Given the description of an element on the screen output the (x, y) to click on. 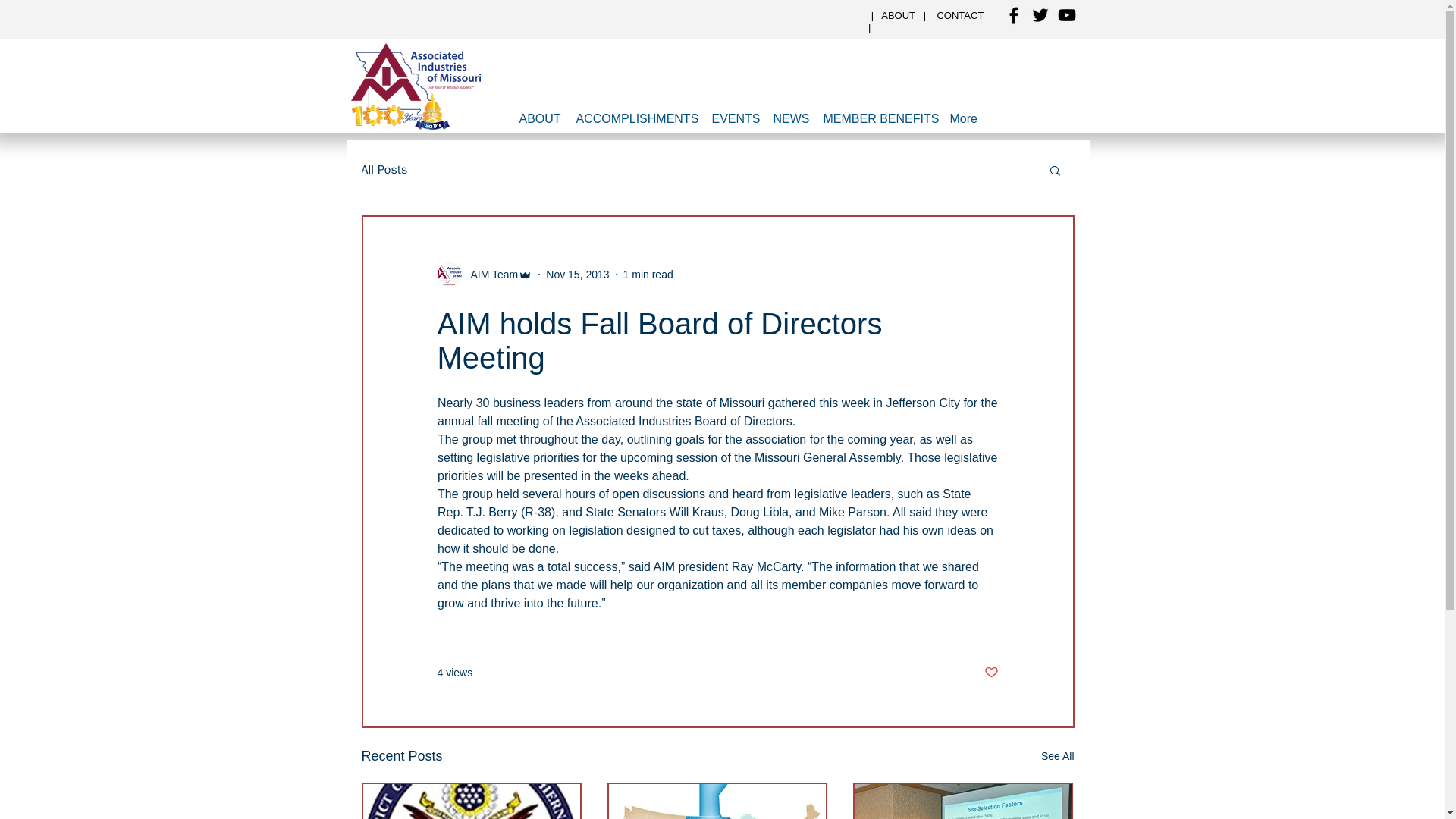
All Posts (384, 170)
ACCOMPLISHMENTS (636, 118)
Nov 15, 2013 (577, 274)
Post not marked as liked (991, 672)
NEWS (790, 118)
ABOUT (539, 118)
See All (1057, 756)
EVENTS (734, 118)
ABOUT (898, 15)
 CONTACT (959, 15)
1 min read (647, 274)
AIM Team (489, 274)
